Given the description of an element on the screen output the (x, y) to click on. 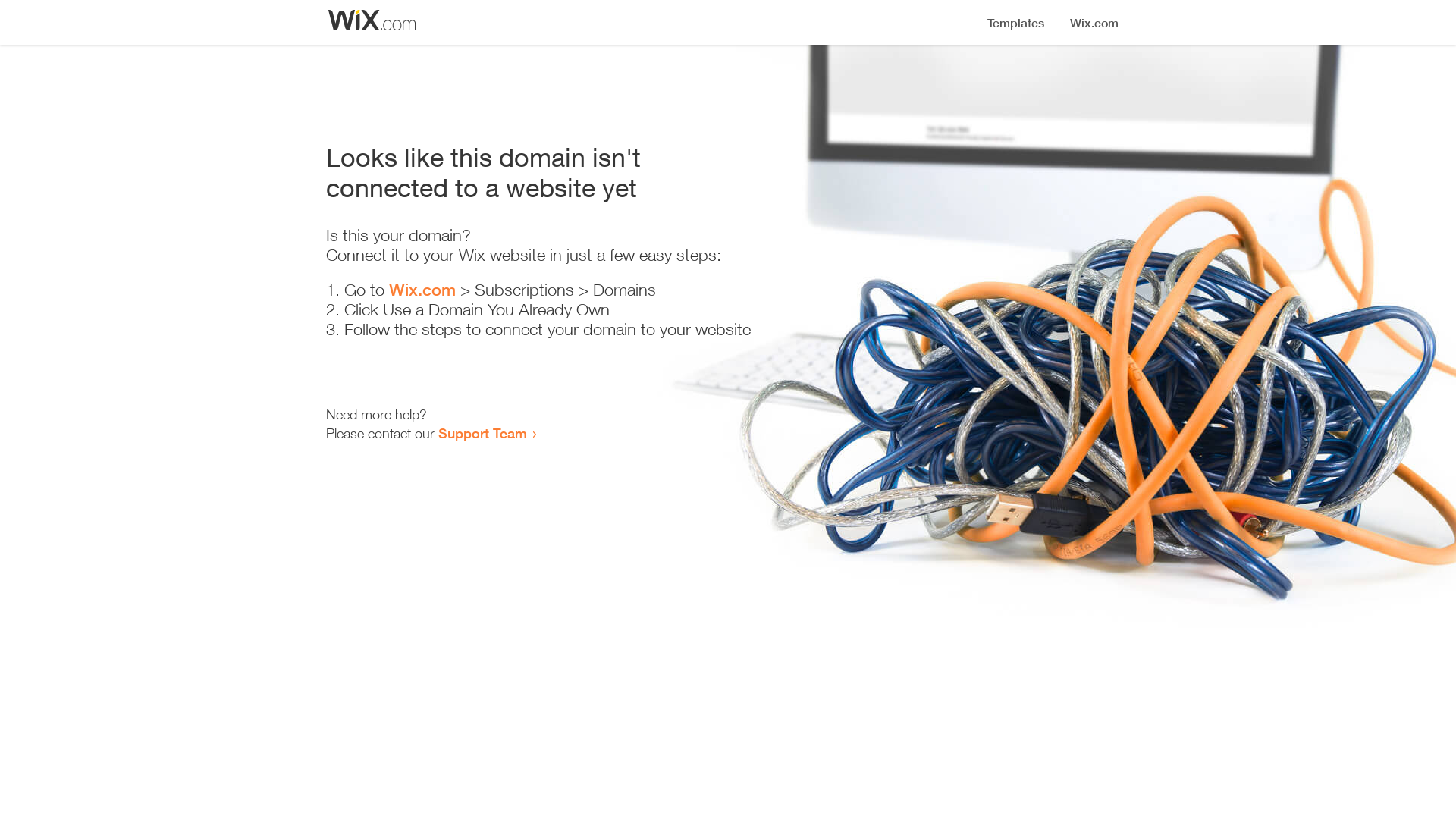
Support Team Element type: text (482, 432)
Wix.com Element type: text (422, 289)
